Given the description of an element on the screen output the (x, y) to click on. 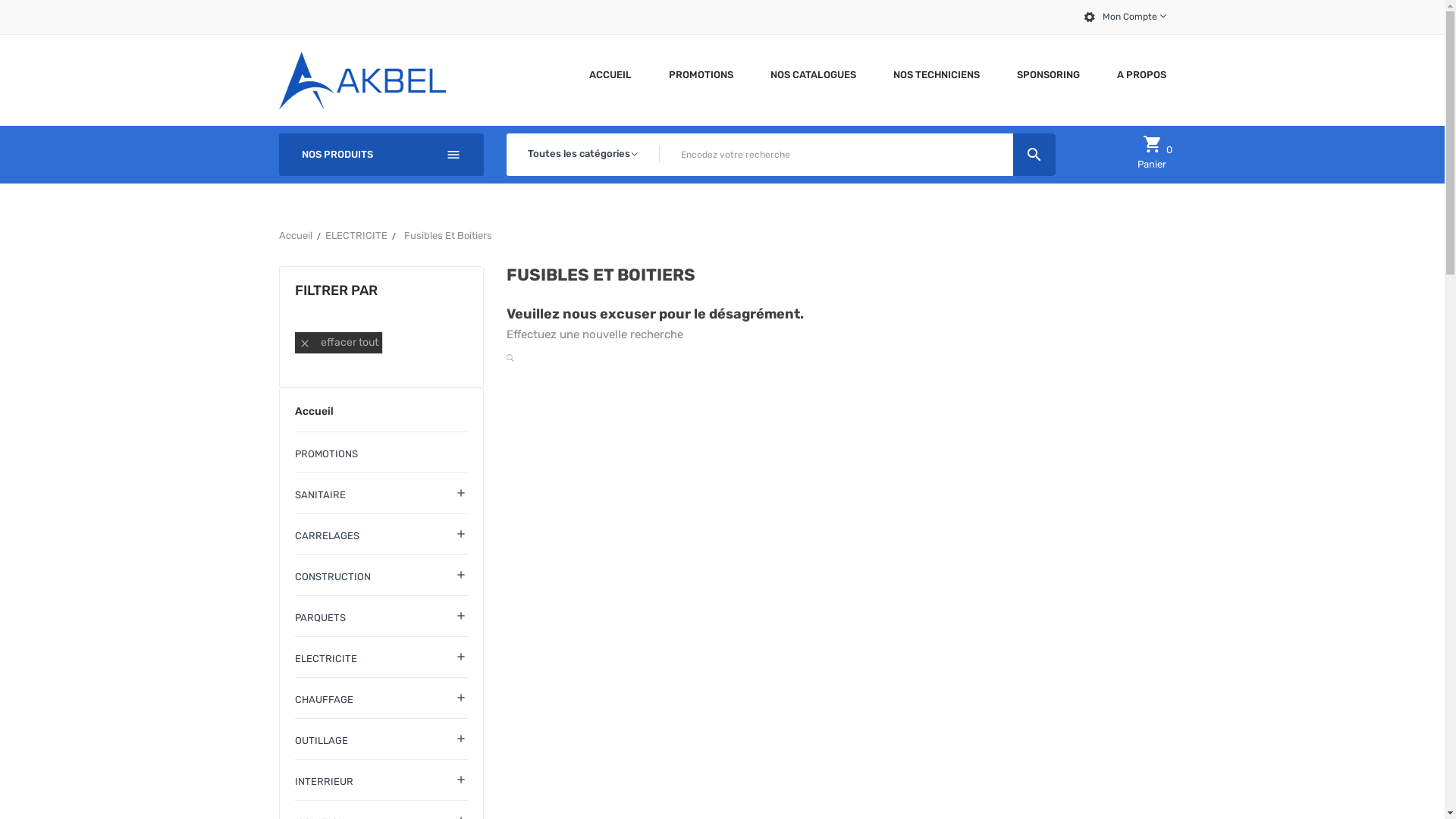
PARQUETS Element type: text (380, 618)
PROMOTIONS Element type: text (700, 74)
NOS CATALOGUES Element type: text (813, 74)
OUTILLAGE Element type: text (380, 740)
0
Panier Element type: text (1151, 154)
CHAUFFAGE Element type: text (380, 699)
ELECTRICITE Element type: text (356, 235)
NOS TECHNICIENS Element type: text (936, 74)
SPONSORING Element type: text (1047, 74)
Accueil Element type: text (380, 417)
CARRELAGES Element type: text (380, 536)
INTERRIEUR Element type: text (380, 781)
CONSTRUCTION Element type: text (380, 577)
search Element type: text (1034, 154)
A PROPOS Element type: text (1136, 74)
SANITAIRE Element type: text (380, 495)
Accueil Element type: text (295, 235)
ELECTRICITE Element type: text (380, 658)
PROMOTIONS Element type: text (380, 454)
Fusibles Et Boitiers Element type: text (448, 235)
ACCUEIL Element type: text (609, 74)
